Given the description of an element on the screen output the (x, y) to click on. 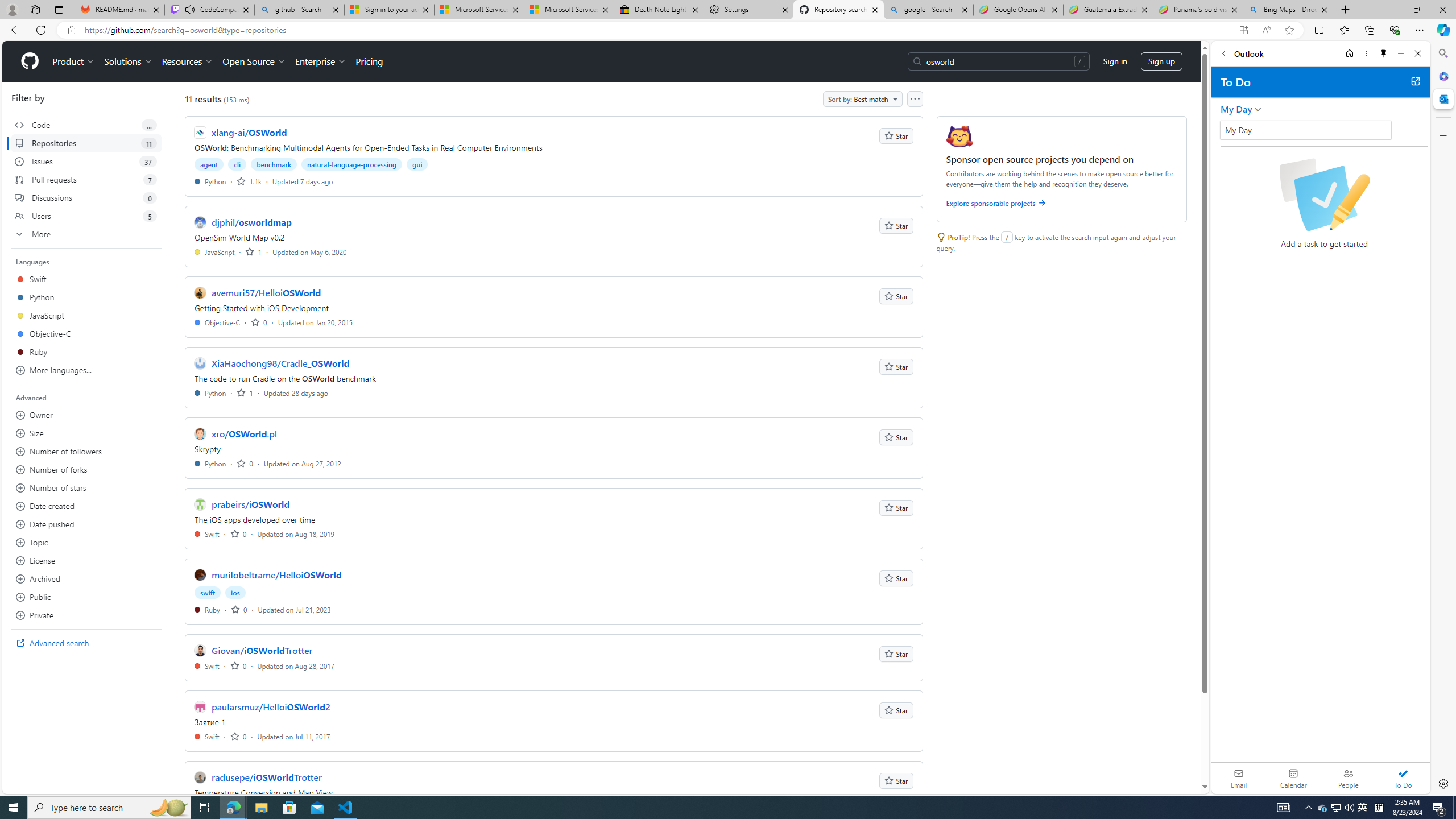
benchmark (273, 164)
Giovan/iOSWorldTrotter (262, 650)
swift (208, 592)
paularsmuz/HelloiOSWorld2 (270, 707)
Pricing (368, 60)
Email (1238, 777)
Homepage (29, 61)
Class: wL_Ii70haOUOvHnsRwbD (1305, 130)
Explore sponsorable projects (1061, 205)
Calendar. Date today is 22 (1293, 777)
